Given the description of an element on the screen output the (x, y) to click on. 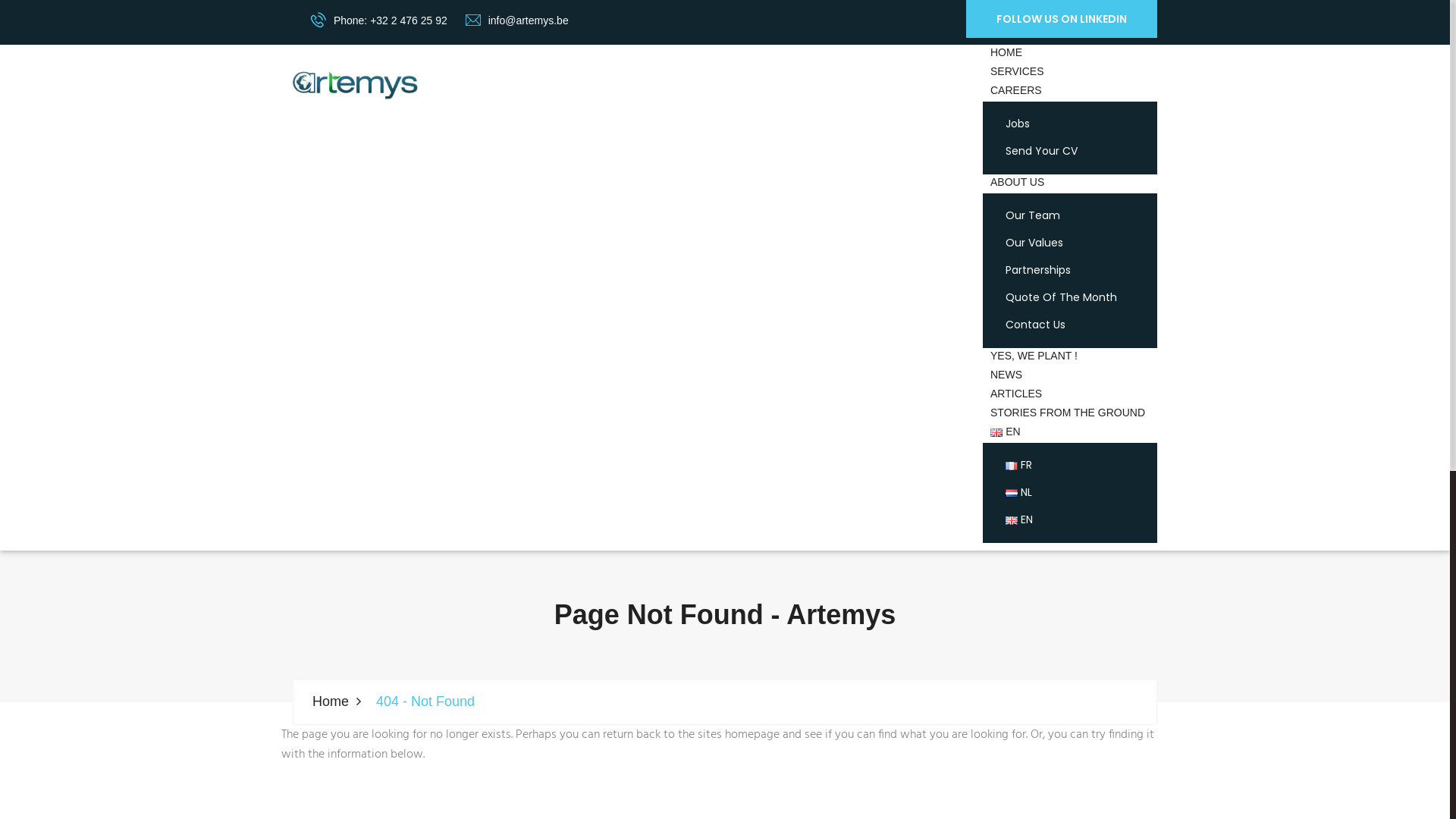
FR Element type: text (1018, 465)
ARTICLES Element type: text (1015, 394)
FOLLOW US ON LINKEDIN Element type: text (1061, 18)
Experts Element type: hover (354, 85)
Quote Of The Month Element type: text (1061, 297)
SERVICES Element type: text (1017, 72)
STORIES FROM THE GROUND Element type: text (1067, 413)
Partnerships Element type: text (1037, 270)
Contact Us Element type: text (1035, 324)
Send Your CV Element type: text (1041, 151)
HOME Element type: text (1006, 53)
Home Element type: text (340, 702)
Our Team Element type: text (1032, 215)
EN Element type: text (1018, 519)
Jobs Element type: text (1017, 124)
EN Element type: text (1005, 432)
NL Element type: text (1018, 492)
NEWS Element type: text (1006, 376)
ABOUT US Element type: text (1017, 183)
YES, WE PLANT ! Element type: text (1033, 357)
Our Values Element type: text (1034, 243)
CAREERS Element type: text (1015, 91)
